Given the description of an element on the screen output the (x, y) to click on. 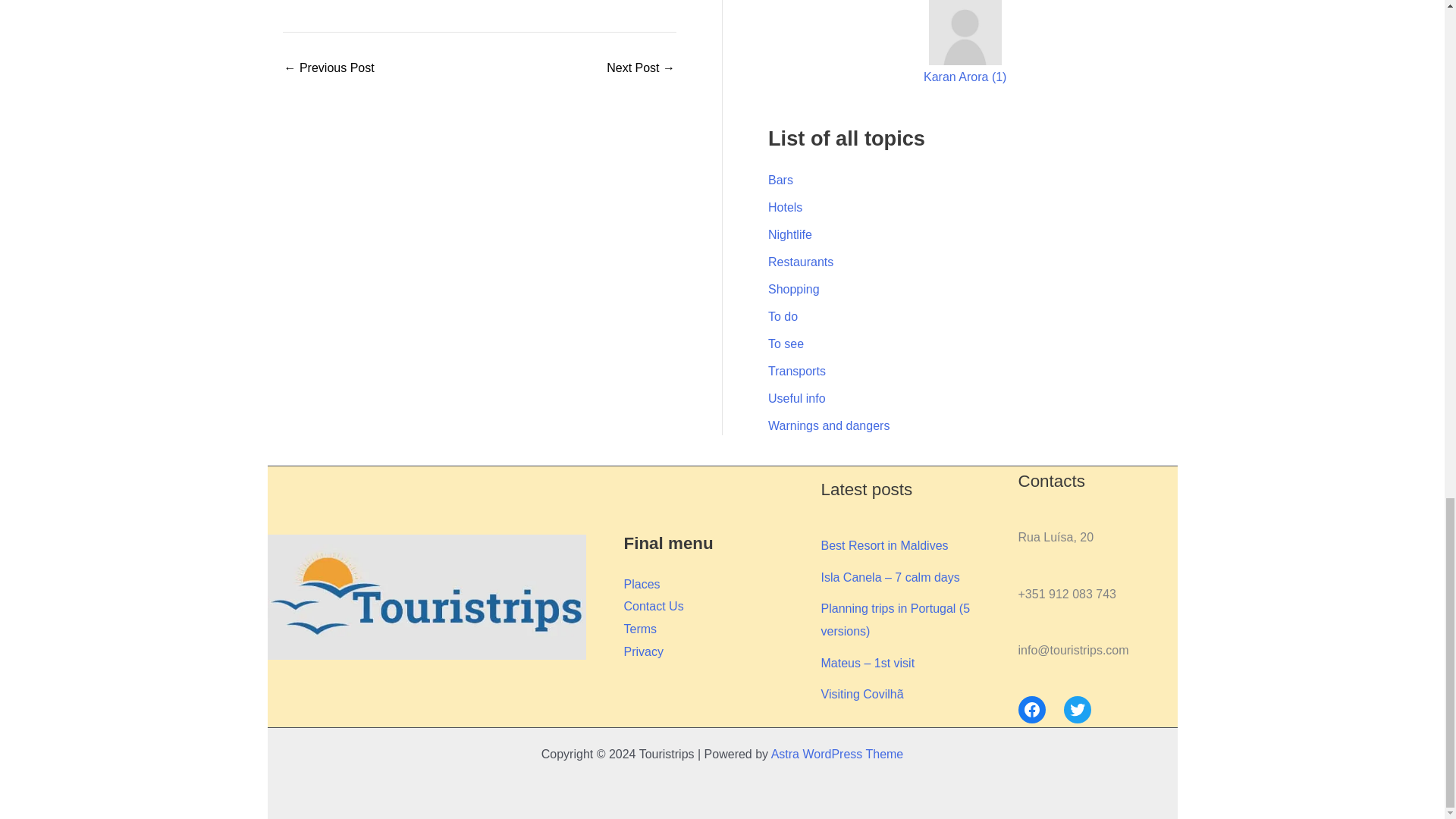
Simancas (328, 68)
Ciudad Rodrigo - 2 good visits (641, 68)
